Given the description of an element on the screen output the (x, y) to click on. 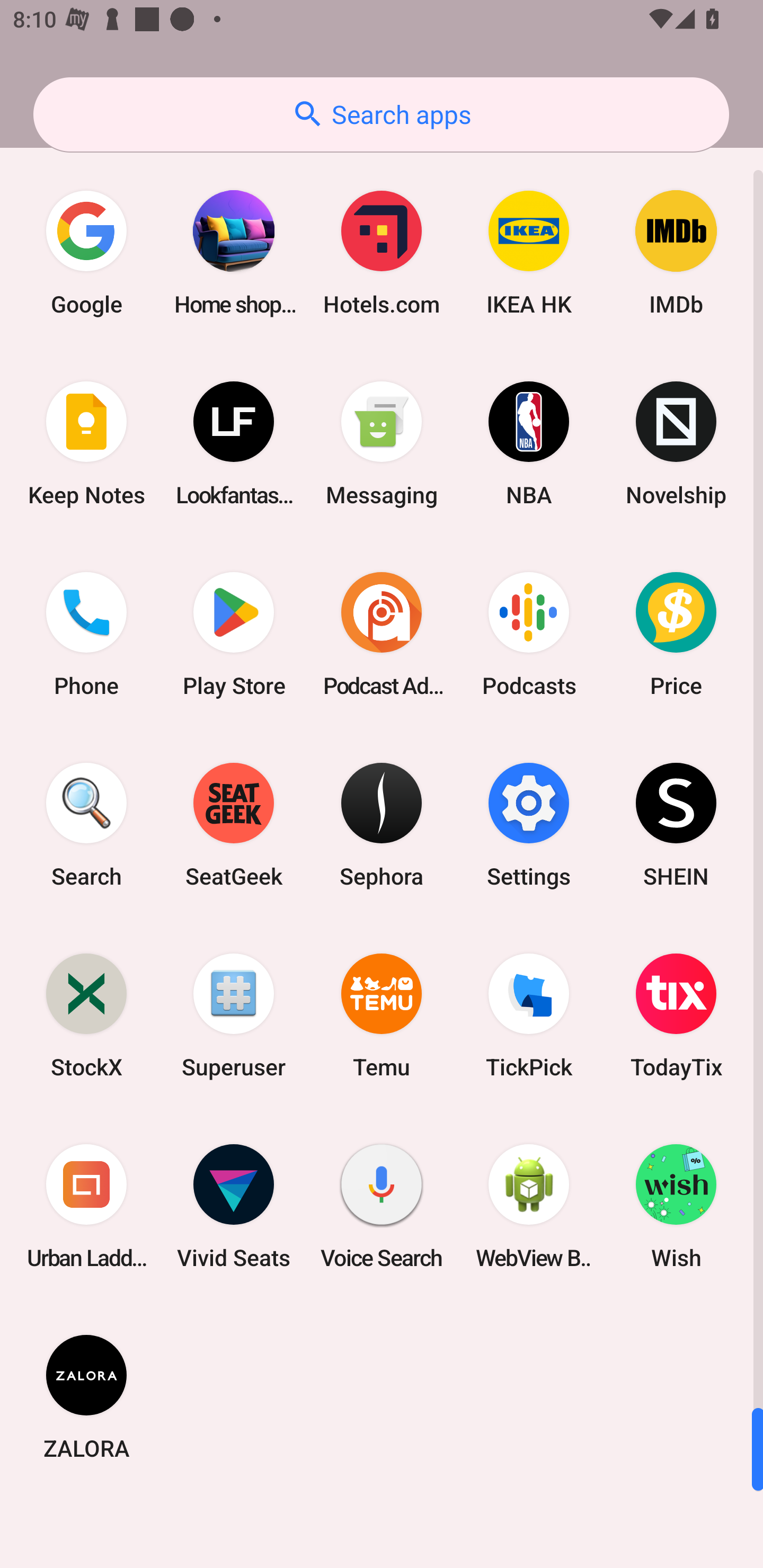
  Search apps (381, 114)
Google (86, 252)
Home shopping (233, 252)
Hotels.com (381, 252)
IKEA HK (528, 252)
IMDb (676, 252)
Keep Notes (86, 443)
Lookfantastic (233, 443)
Messaging (381, 443)
NBA (528, 443)
Novelship (676, 443)
Phone (86, 634)
Play Store (233, 634)
Podcast Addict (381, 634)
Podcasts (528, 634)
Price (676, 634)
Search (86, 824)
SeatGeek (233, 824)
Sephora (381, 824)
Settings (528, 824)
SHEIN (676, 824)
StockX (86, 1015)
Superuser (233, 1015)
Temu (381, 1015)
TickPick (528, 1015)
TodayTix (676, 1015)
Urban Ladder (86, 1205)
Vivid Seats (233, 1205)
Voice Search (381, 1205)
WebView Browser Tester (528, 1205)
Wish (676, 1205)
ZALORA (86, 1396)
